Given the description of an element on the screen output the (x, y) to click on. 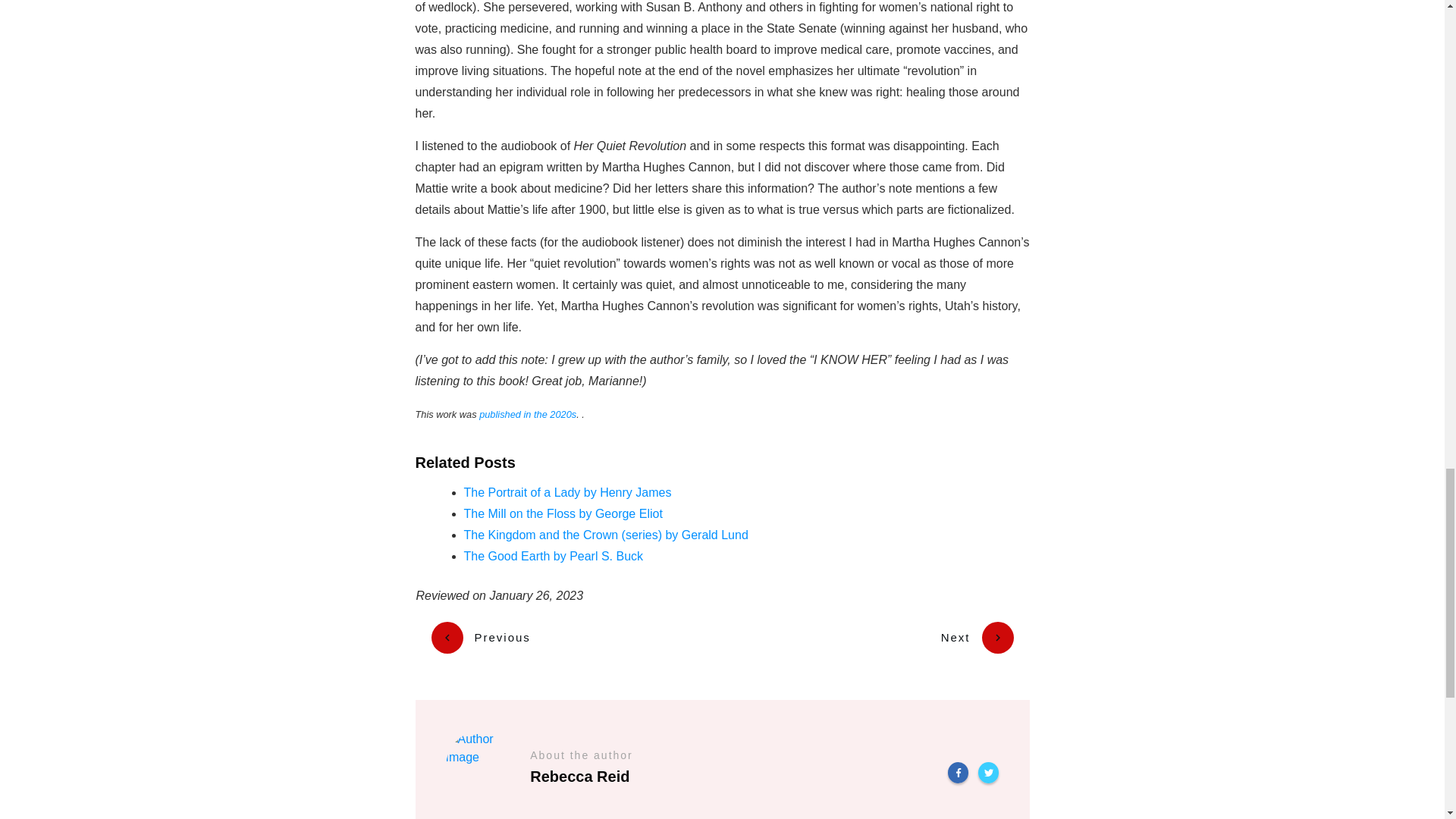
published in the 2020s (527, 414)
